Given the description of an element on the screen output the (x, y) to click on. 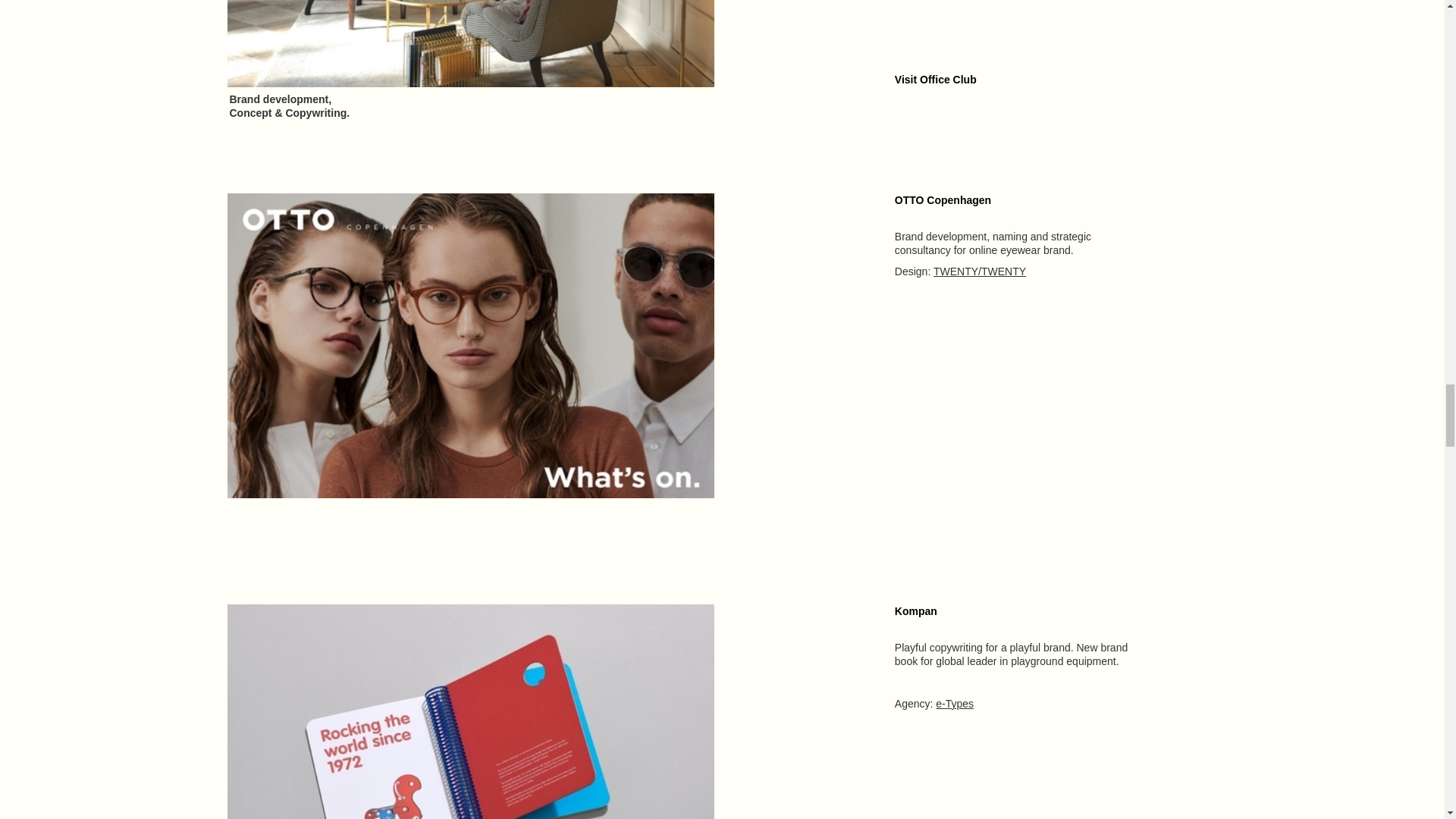
Visit Office Club (935, 79)
e-Types (955, 703)
